Given the description of an element on the screen output the (x, y) to click on. 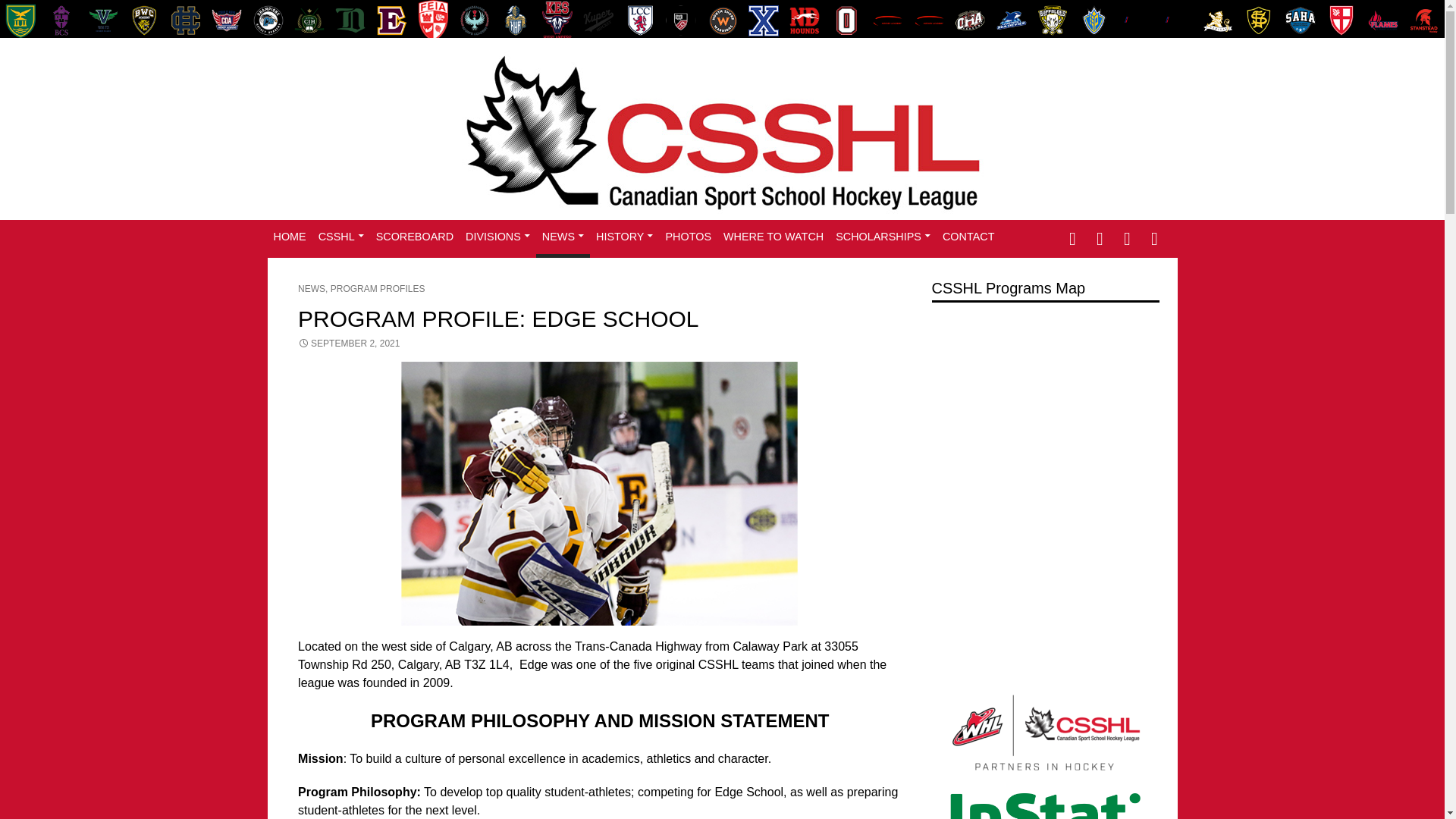
Fort Erie International Academy (432, 20)
Edge School (391, 20)
Delta Hockey Academy (350, 20)
Champions Hockey Academy (267, 20)
Calgary International Hockey Academy (186, 20)
BWC Academy (144, 20)
King Heights Academy (515, 20)
Indigenous Sports Academy (474, 20)
Bourget College (103, 20)
Lower Canada College (640, 20)
Kuper Academy (598, 20)
King's Edgehill School (557, 20)
CIH Academy (309, 20)
Bishop's College School (61, 20)
Balmoral Hall School (20, 20)
